Given the description of an element on the screen output the (x, y) to click on. 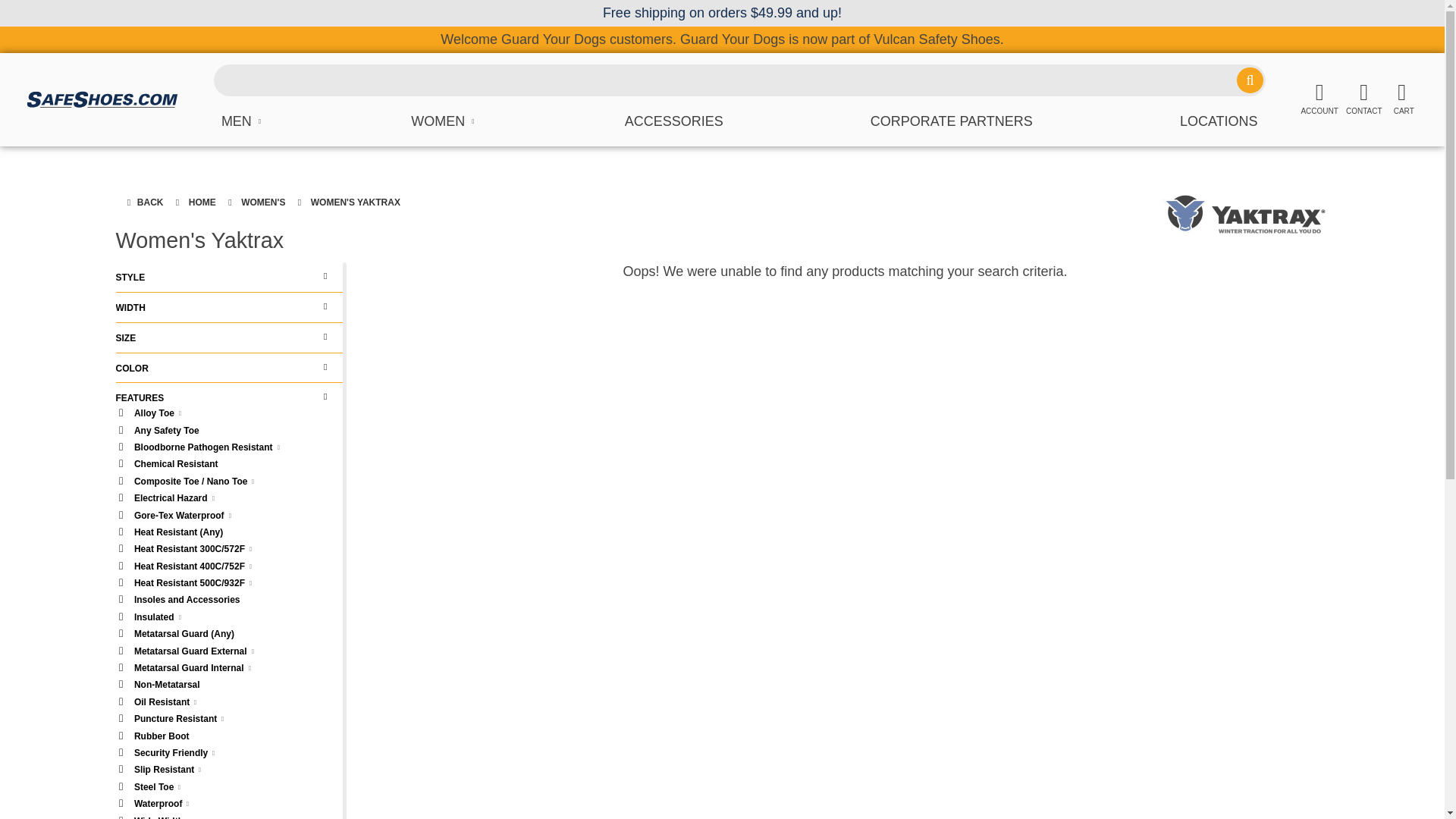
Contact (1363, 99)
Safeshoes.com (101, 99)
MEN (242, 121)
Account (1319, 99)
Search (1249, 80)
Search (1249, 80)
